Given the description of an element on the screen output the (x, y) to click on. 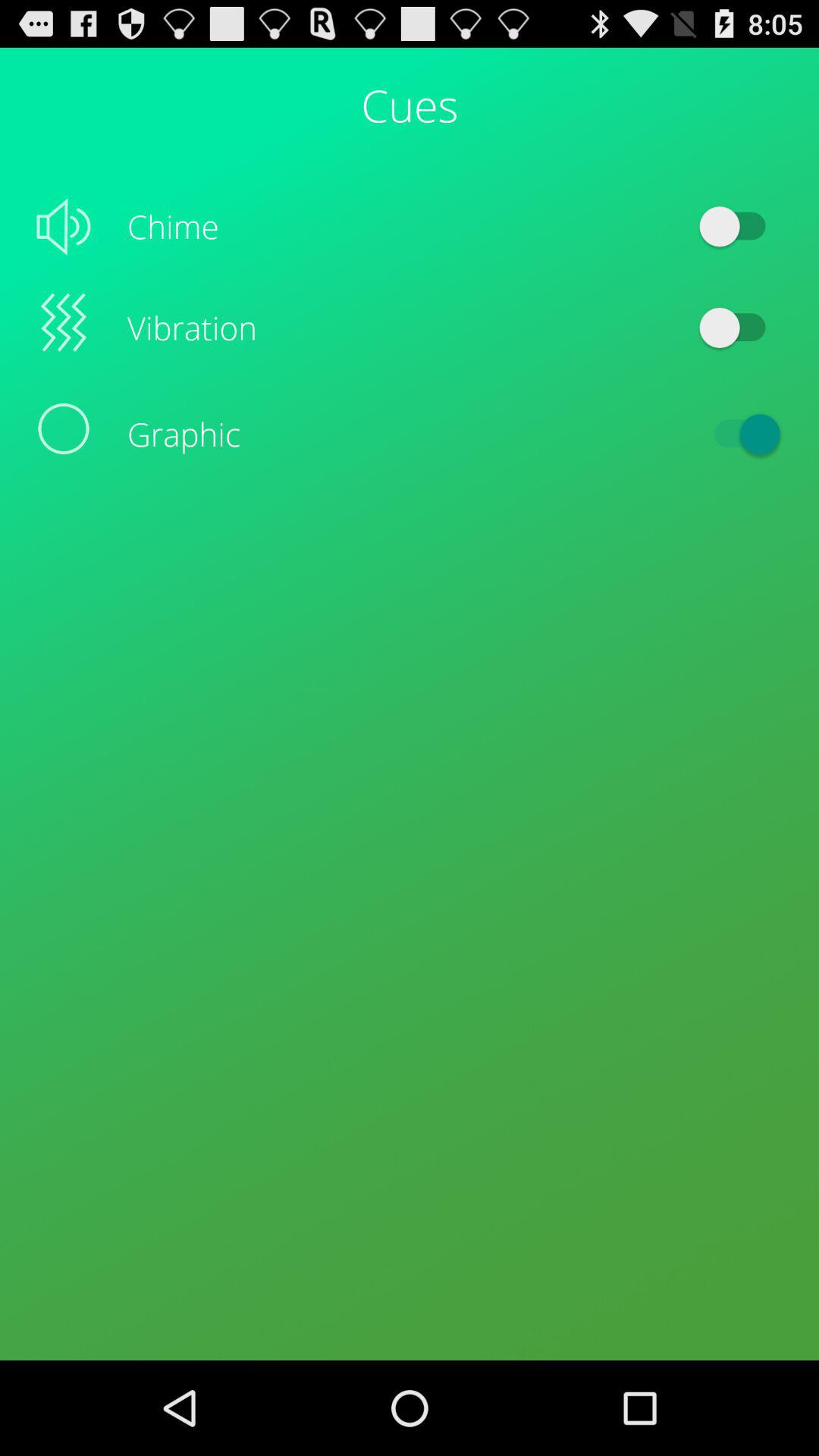
tap the item next to vibration item (739, 327)
